Given the description of an element on the screen output the (x, y) to click on. 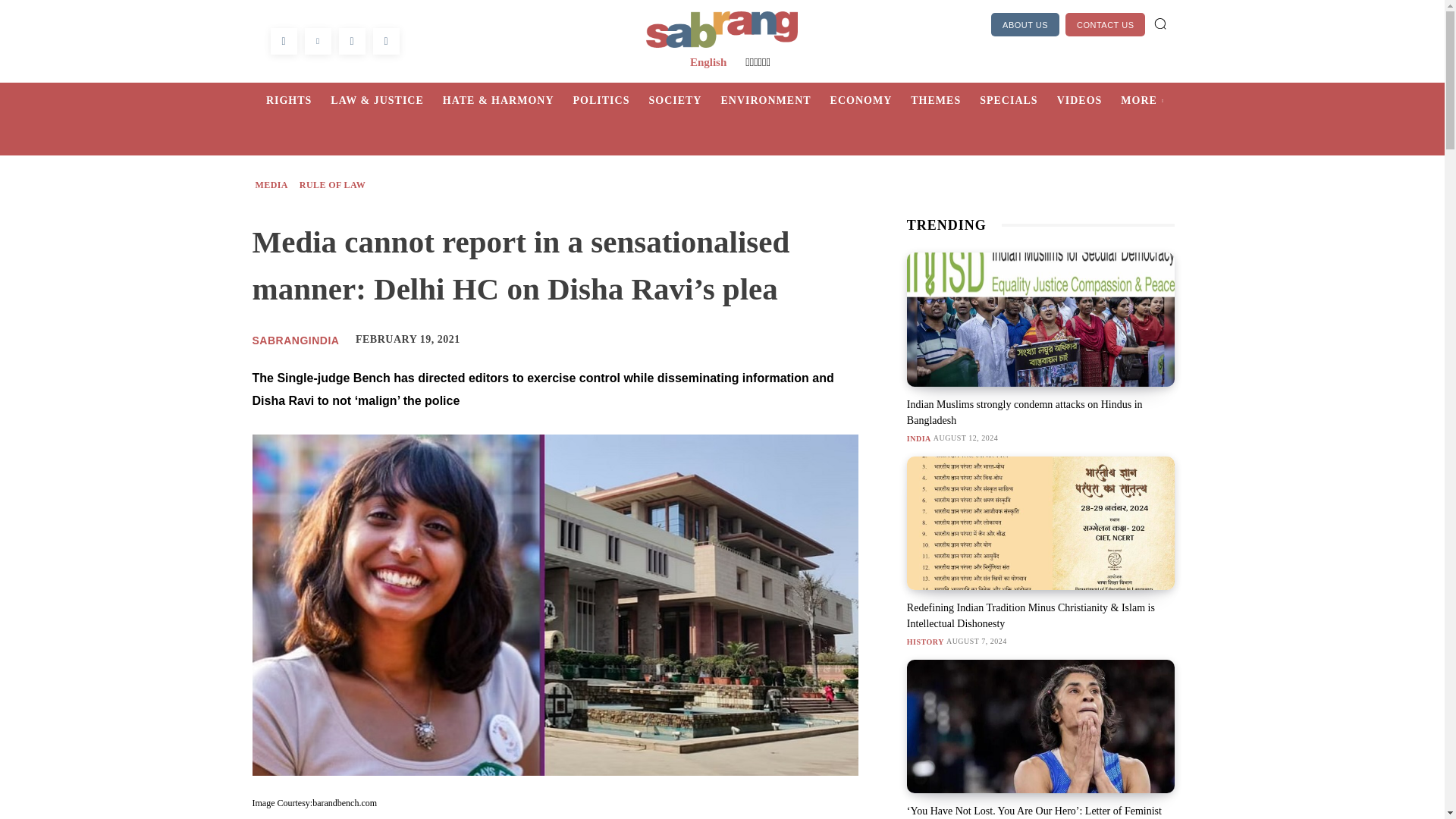
WhatsApp (351, 40)
CONTACT US (1105, 24)
ENVIRONMENT (774, 100)
POLITICS (611, 100)
Facebook (283, 40)
Youtube (385, 40)
ECONOMY (870, 100)
SOCIETY (683, 100)
ABOUT US (1025, 24)
Twitter (317, 40)
